Given the description of an element on the screen output the (x, y) to click on. 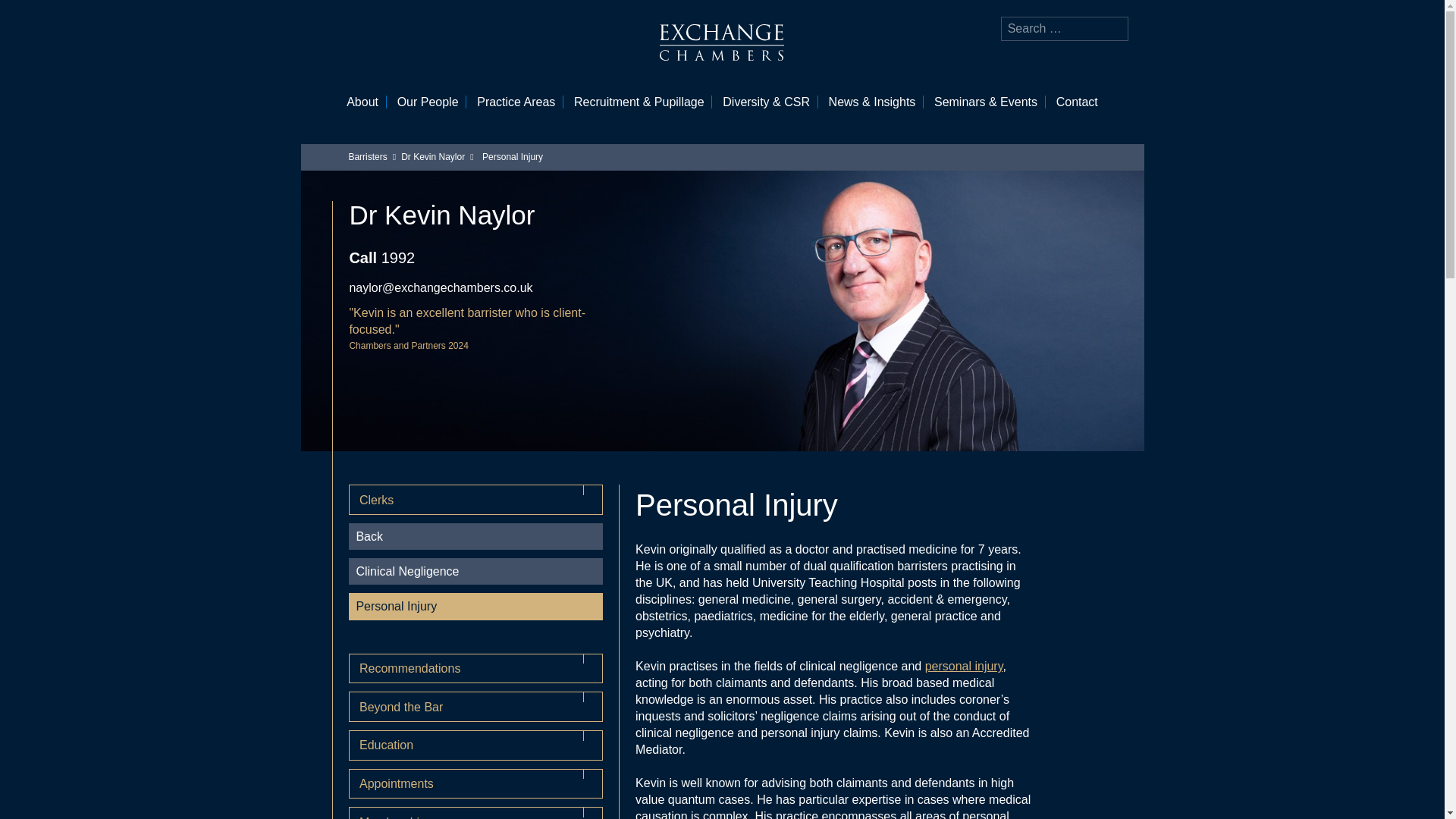
Barristers (367, 156)
About (362, 101)
Personal Injury (475, 605)
Clinical Negligence (475, 570)
Dr Kevin Naylor (432, 156)
Our People (427, 101)
Practice Areas (515, 101)
Contact (1077, 101)
Search for: (1064, 28)
Exchange Chambers (721, 42)
Back (475, 536)
personal injury (963, 666)
